Given the description of an element on the screen output the (x, y) to click on. 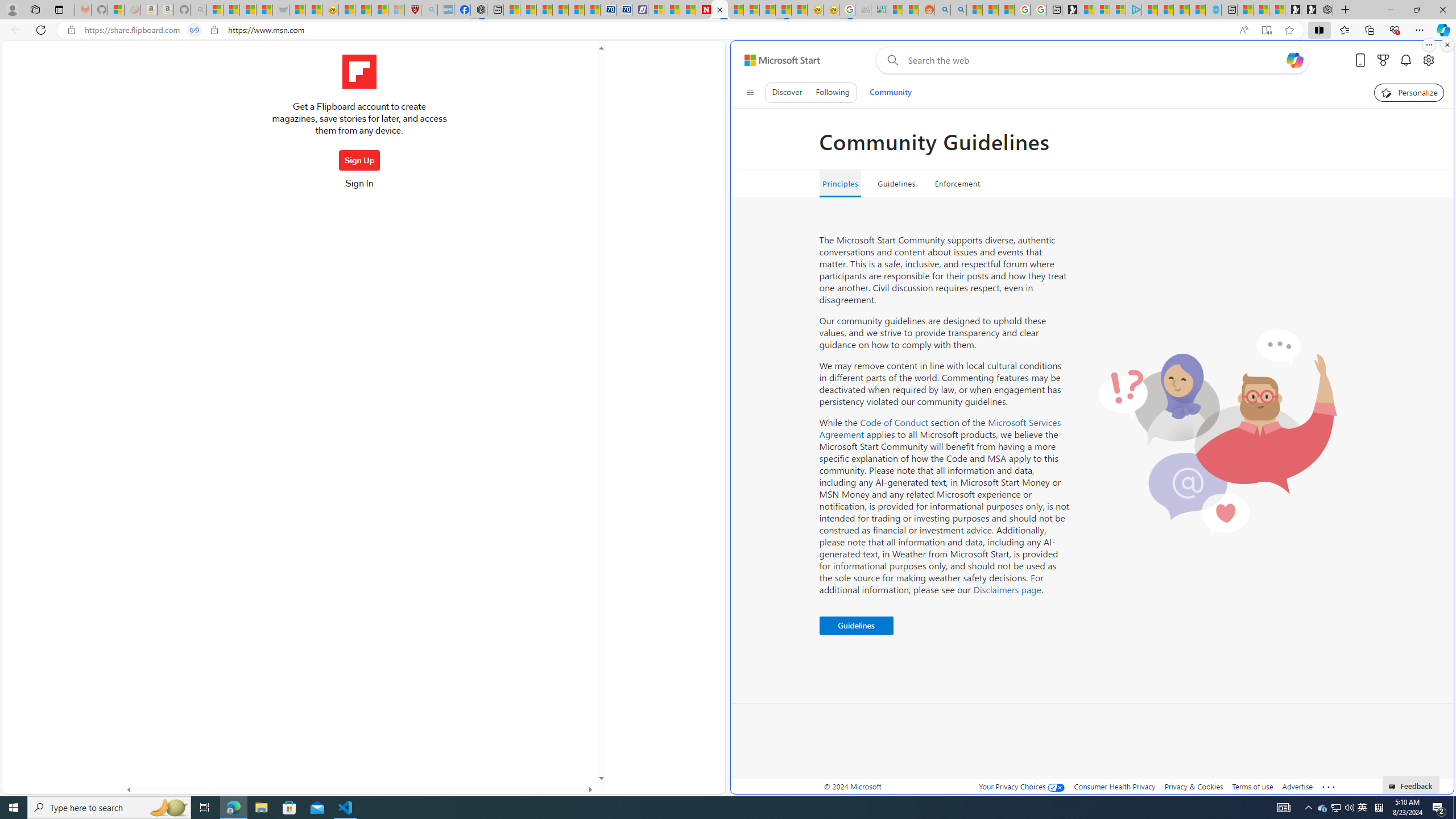
Terms of use (1252, 785)
Enforcement (956, 183)
Class: feedback_link_icon-DS-EntryPoint1-1 (1393, 786)
